Given the description of an element on the screen output the (x, y) to click on. 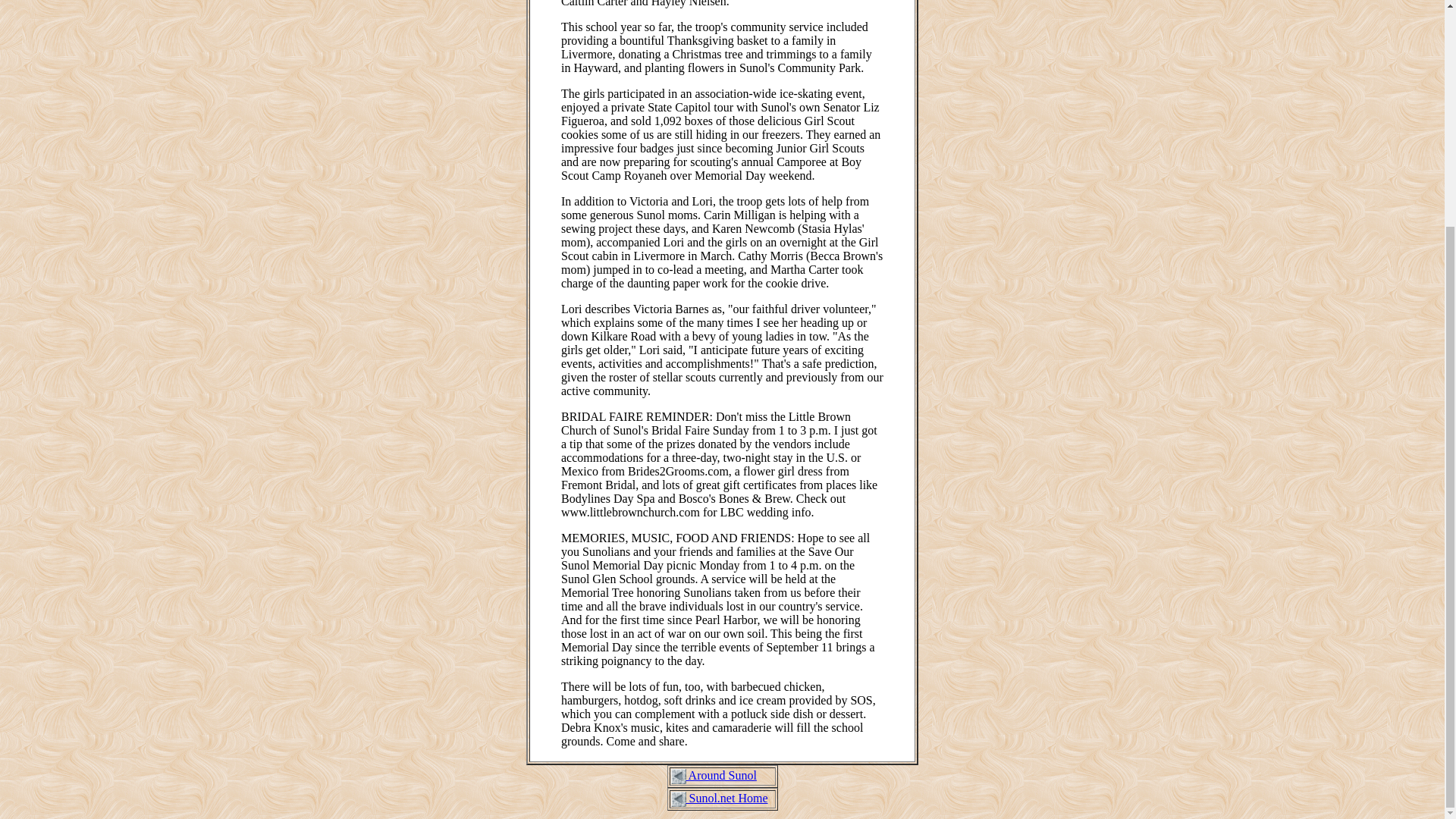
Sunol.net Home (726, 797)
Around Sunol (720, 775)
